Given the description of an element on the screen output the (x, y) to click on. 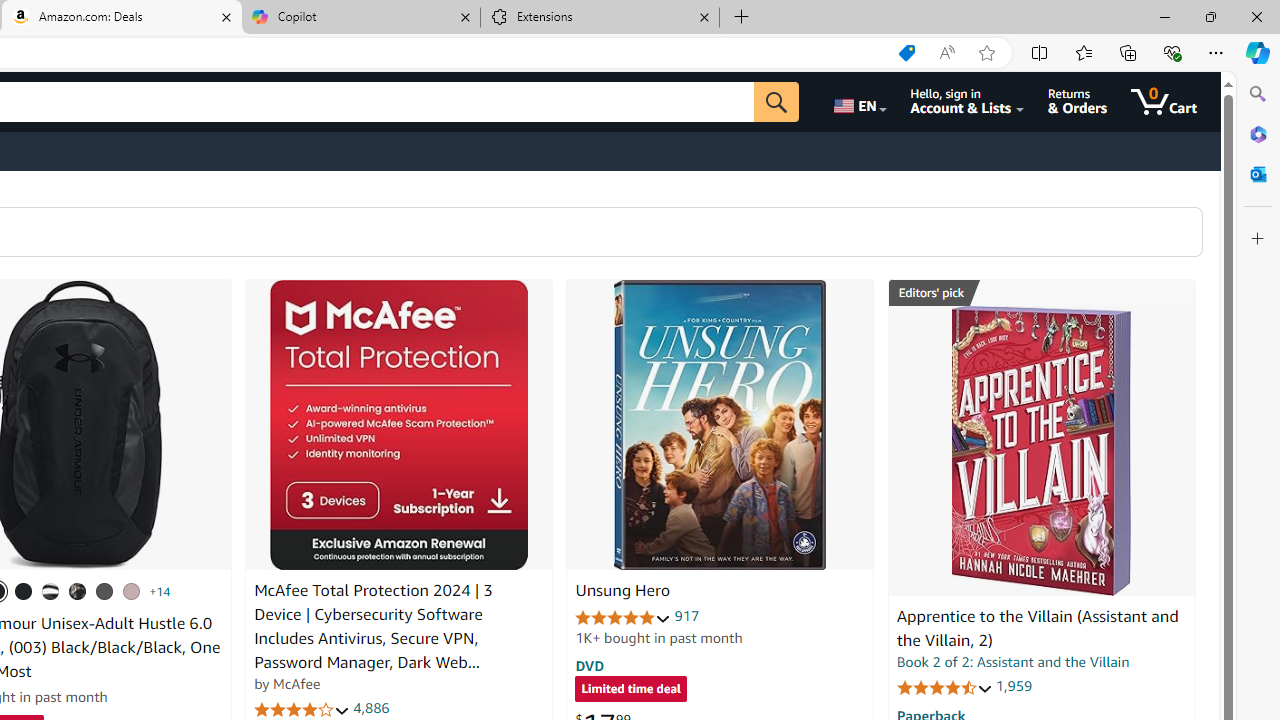
Extensions (600, 17)
4,886 (371, 708)
Close tab (704, 16)
4.6 out of 5 stars (944, 686)
Close (1256, 16)
Settings and more (Alt+F) (1215, 52)
Add this page to favorites (Ctrl+D) (986, 53)
Unsung Hero (720, 425)
Choose a language for shopping. (858, 101)
Returns & Orders (1077, 101)
Collections (1128, 52)
Book 2 of 2: Assistant and the Villain (1013, 662)
DVD (589, 665)
